Given the description of an element on the screen output the (x, y) to click on. 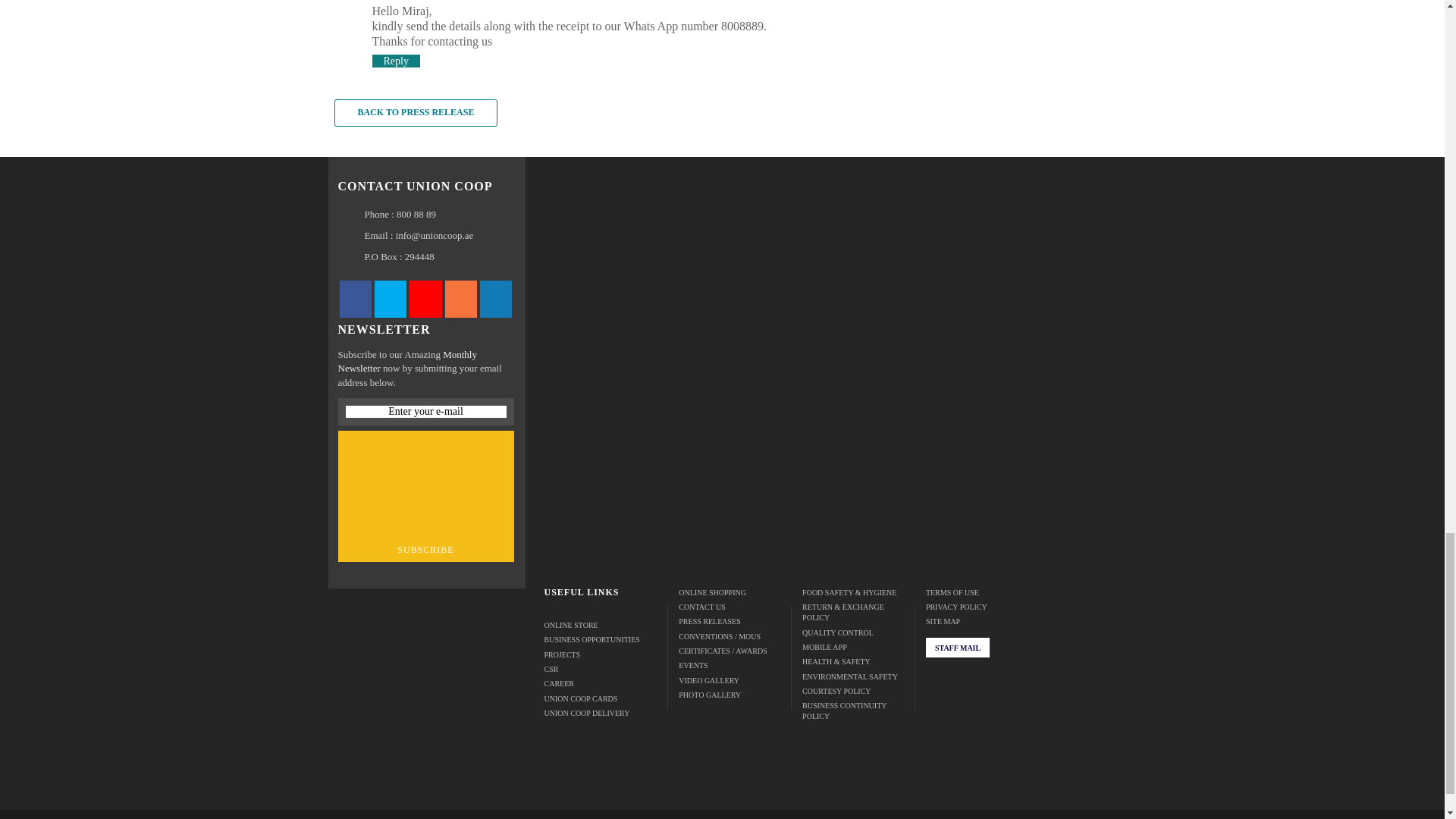
Online Store (600, 624)
